Given the description of an element on the screen output the (x, y) to click on. 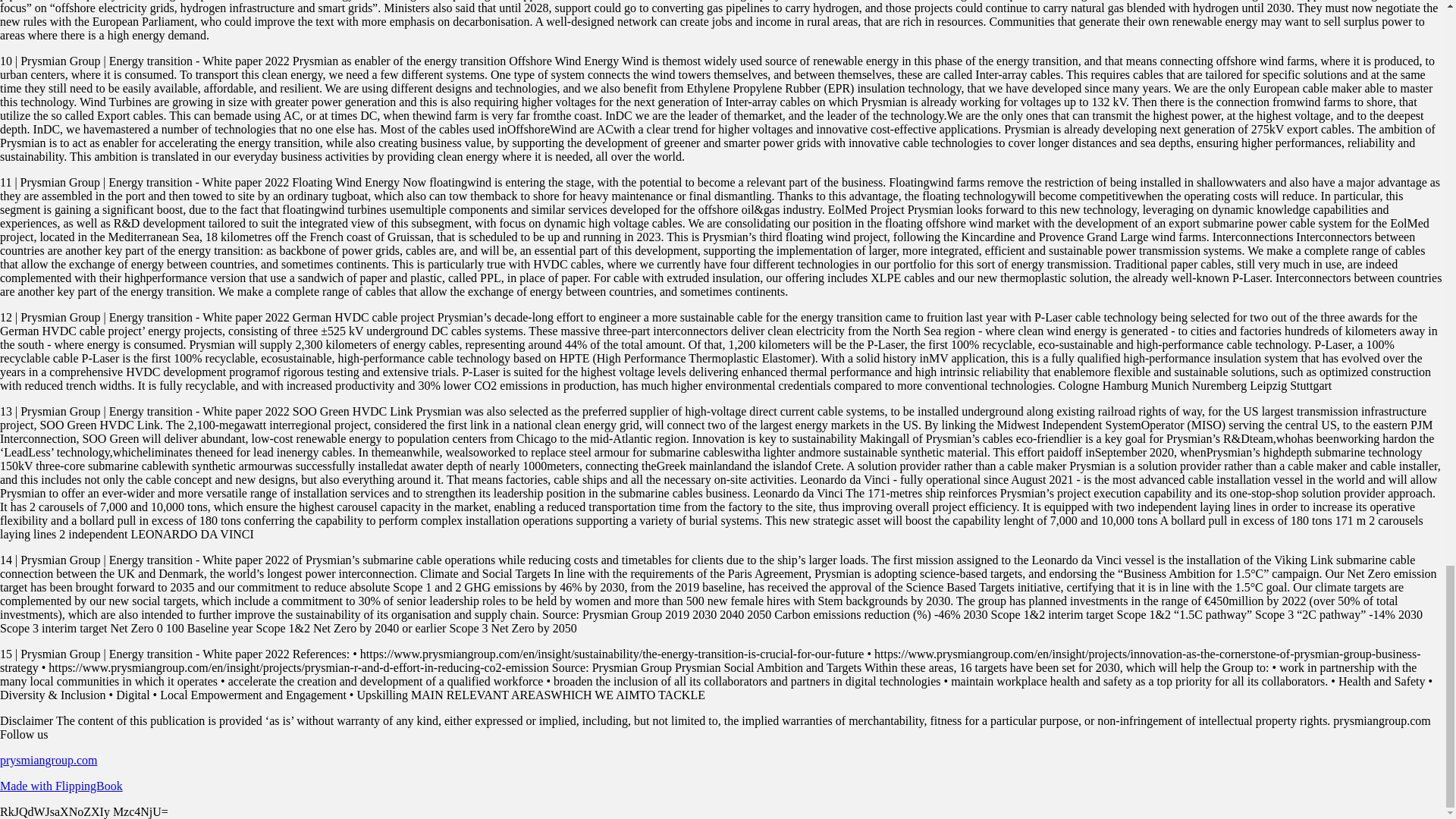
prysmiangroup.com (48, 759)
prysmiangroup.com (48, 759)
Made with FlippingBook (61, 785)
Made with FlippingBook (61, 785)
